Given the description of an element on the screen output the (x, y) to click on. 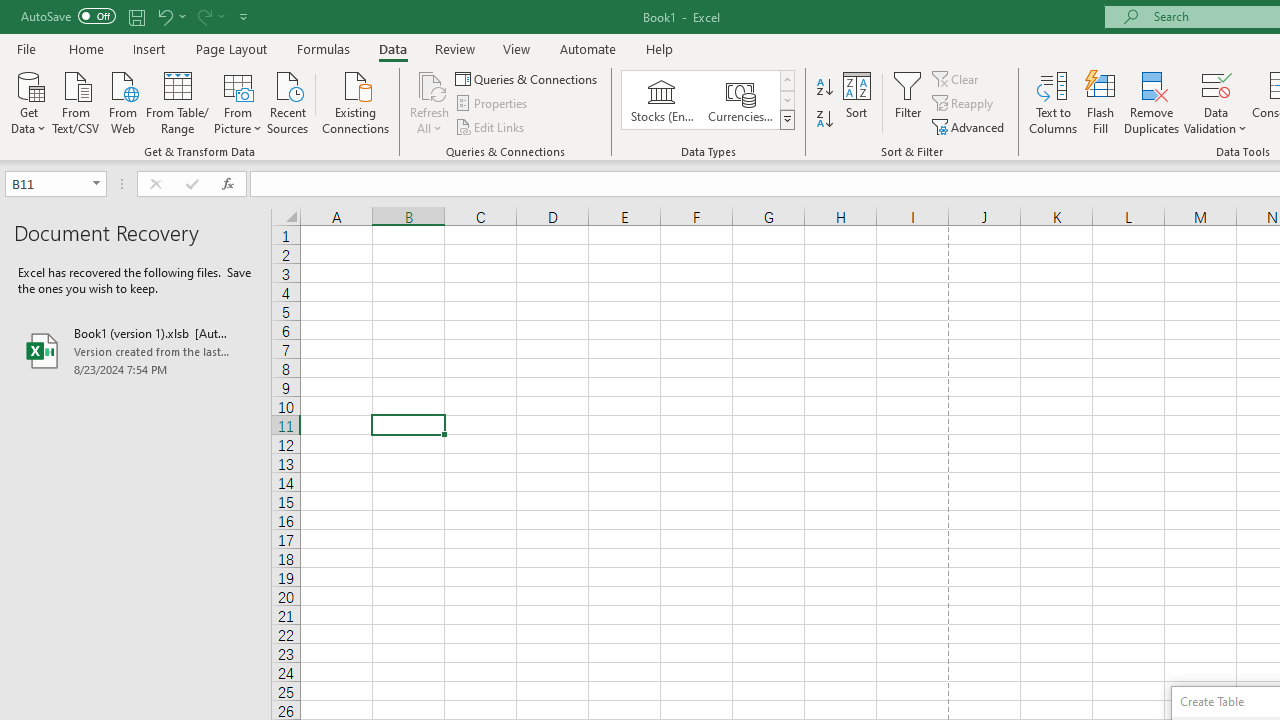
Refresh All (429, 84)
From Picture (238, 101)
Sort... (856, 102)
Stocks (English) (662, 100)
Advanced... (970, 126)
Sort Z to A (824, 119)
Existing Connections (355, 101)
Save (136, 15)
From Text/CSV (75, 101)
